Given the description of an element on the screen output the (x, y) to click on. 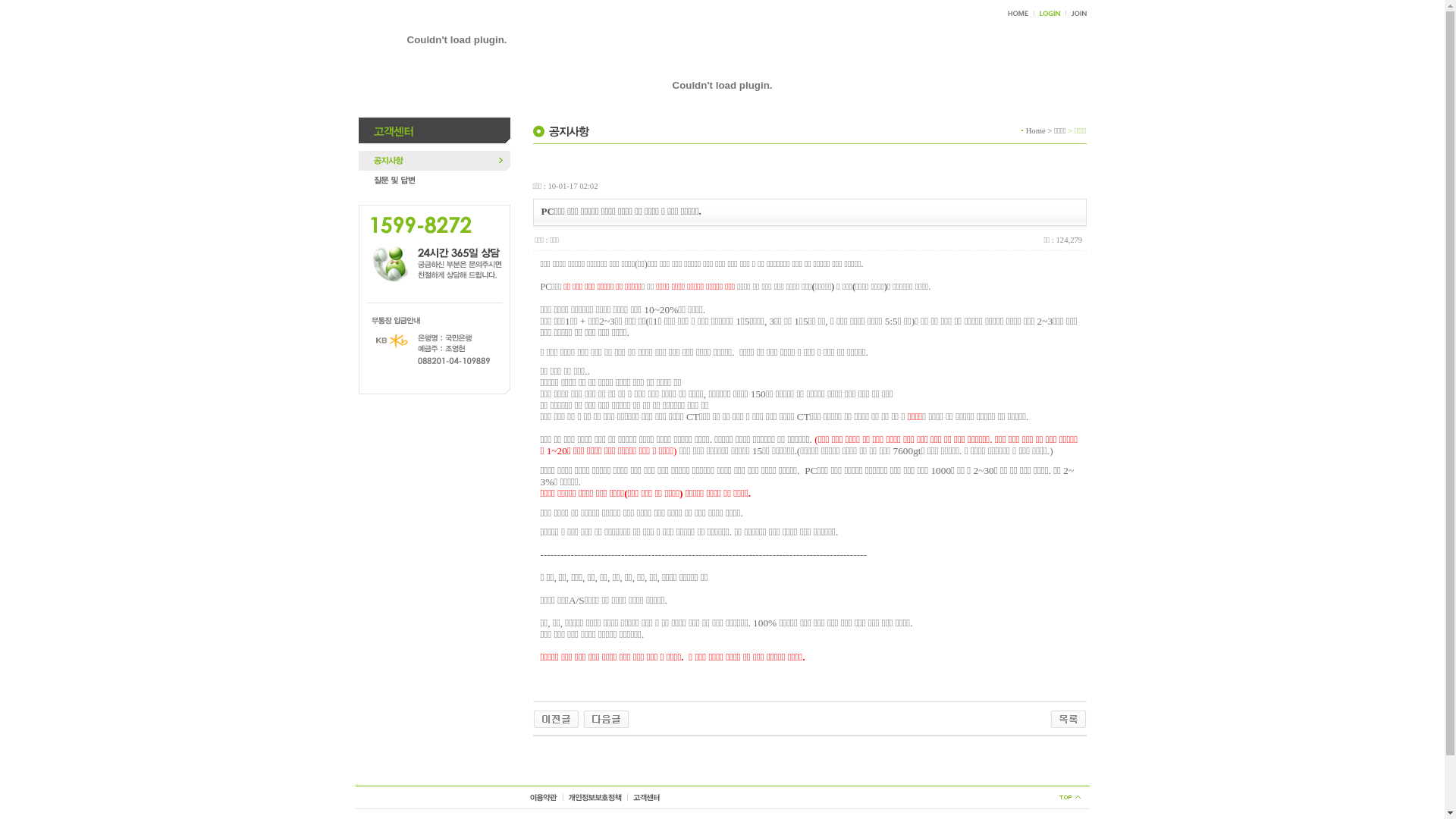
Home Element type: text (1035, 129)
